Given the description of an element on the screen output the (x, y) to click on. 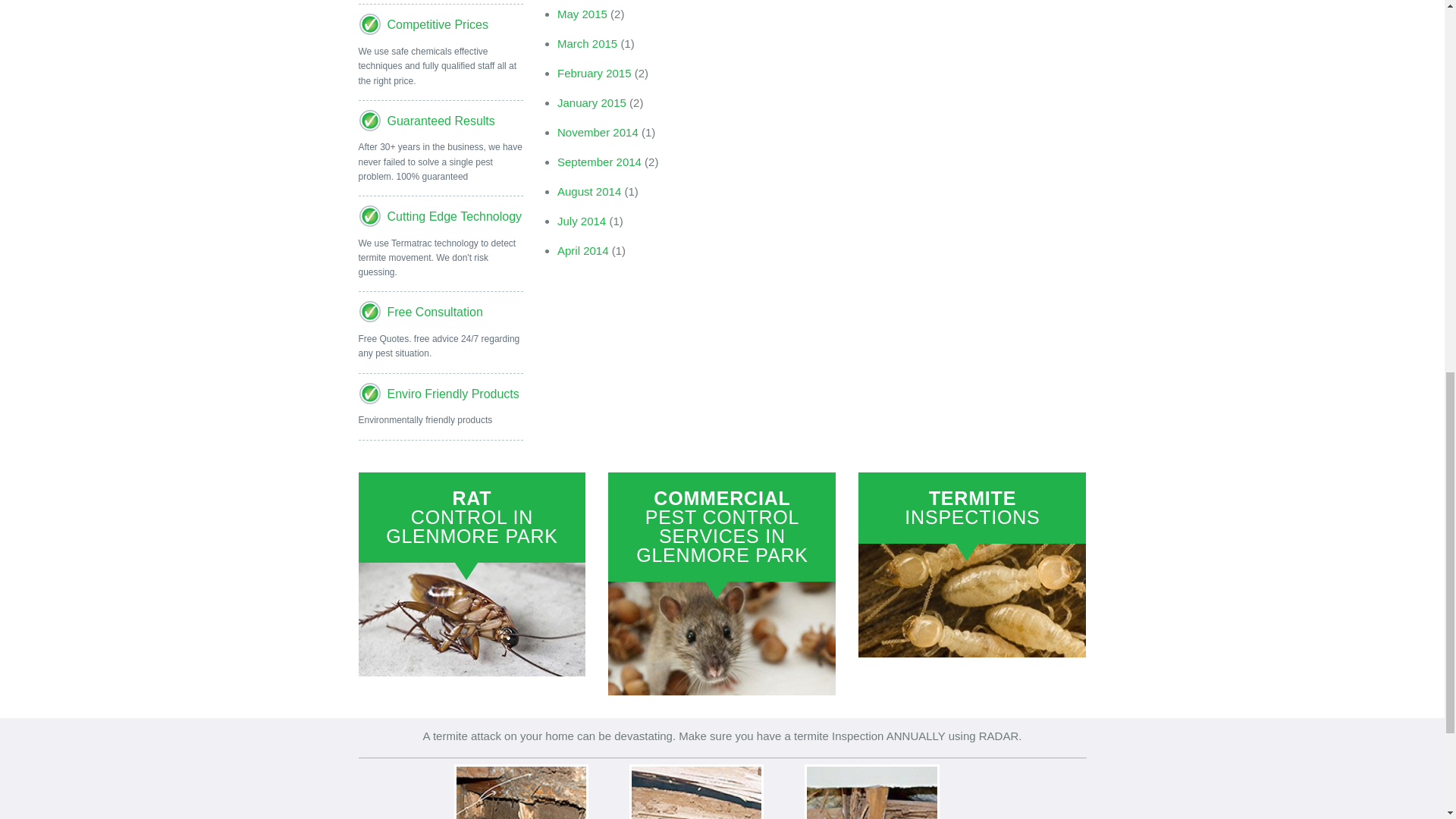
August 2014 (589, 191)
November 2014 (598, 132)
March 2015 (587, 42)
April 2014 (582, 250)
February 2015 (594, 72)
July 2014 (581, 220)
September 2014 (599, 161)
January 2015 (591, 102)
May 2015 (582, 13)
